Given the description of an element on the screen output the (x, y) to click on. 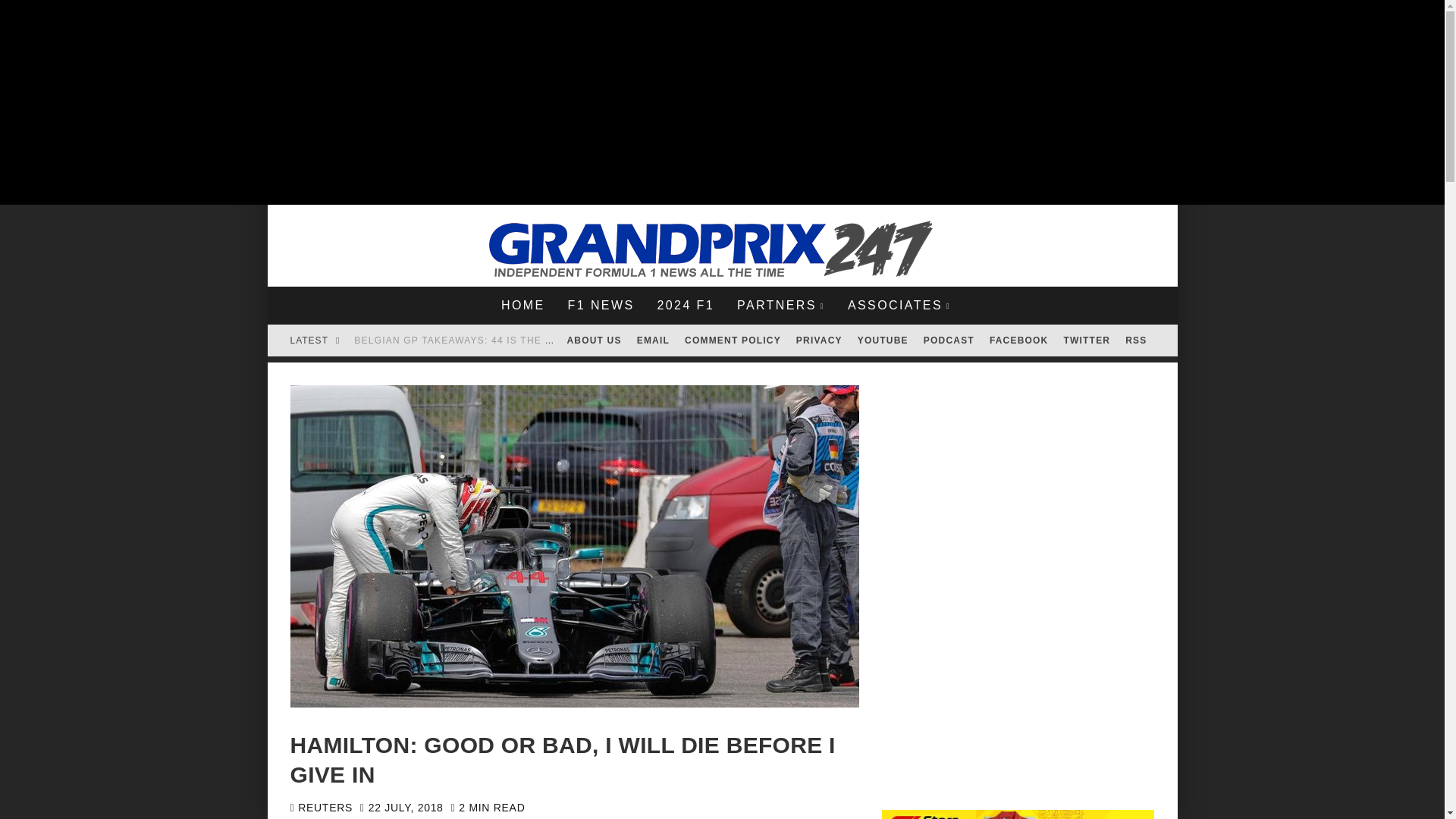
PRIVACY (819, 340)
PARTNERS (780, 305)
FACEBOOK (1019, 340)
BELGIAN GP TAKEAWAYS: 44 IS THE MAGIC NUMBER (490, 339)
ABOUT US (593, 340)
TWITTER (1086, 340)
COMMENT POLICY (733, 340)
YOUTUBE (882, 340)
EMAIL (652, 340)
PODCAST (948, 340)
2024 F1 (685, 305)
Twitter GrandPrix247 (1086, 340)
HOME (522, 305)
F1 NEWS (601, 305)
Belgian GP Takeaways: 44 is the magic number (490, 339)
